Given the description of an element on the screen output the (x, y) to click on. 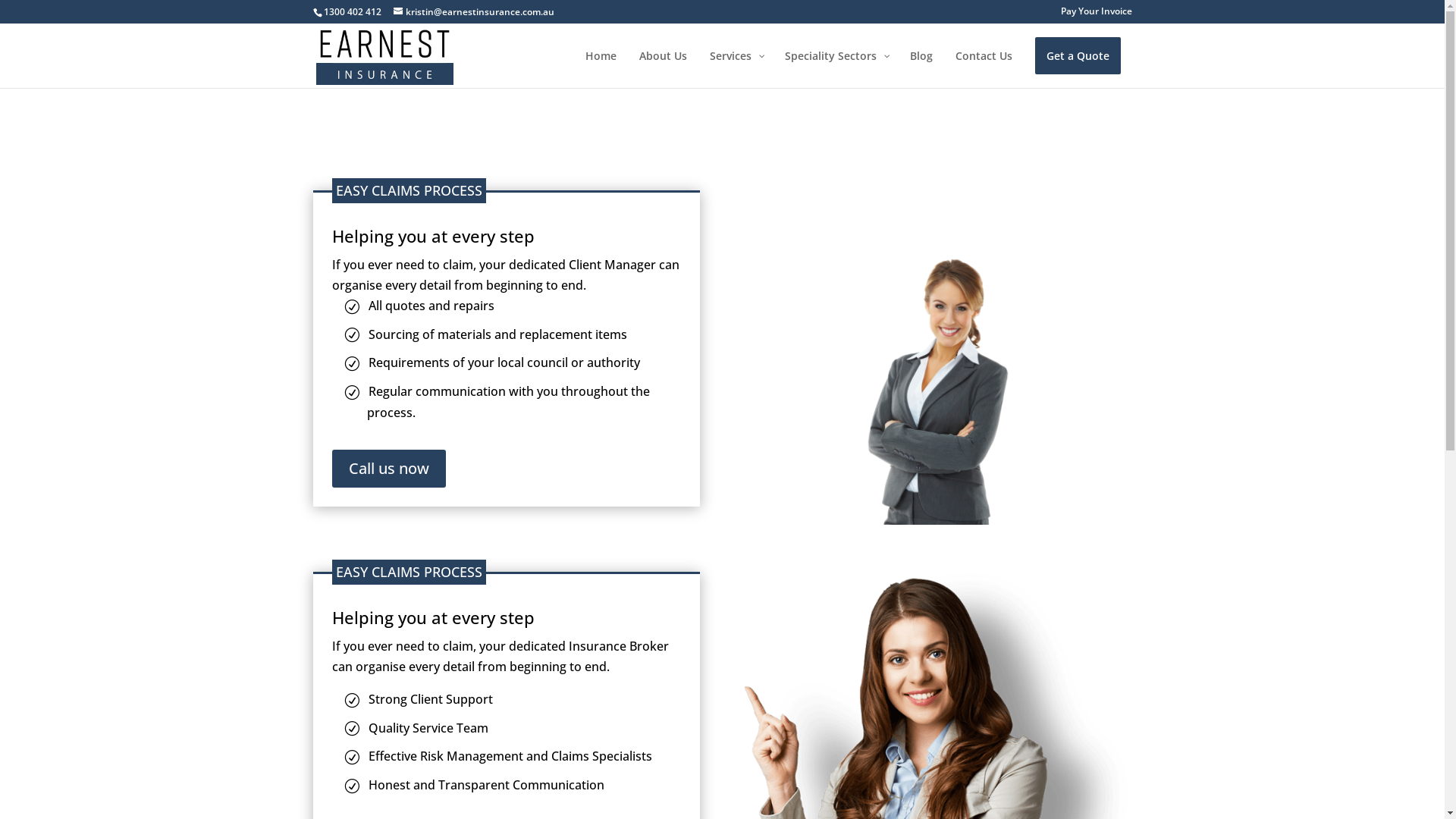
kristin@earnestinsurance.com.au Element type: text (472, 11)
Speciality Sectors Element type: text (835, 67)
About Us Element type: text (662, 67)
Call us now Element type: text (388, 468)
Services Element type: text (734, 67)
Get a Quote Element type: text (1077, 68)
Girl Element type: hover (938, 391)
Contact Us Element type: text (982, 67)
Pay Your Invoice Element type: text (1095, 14)
Blog Element type: text (920, 67)
1300 402 412 Element type: text (351, 11)
Home Element type: text (600, 67)
